Given the description of an element on the screen output the (x, y) to click on. 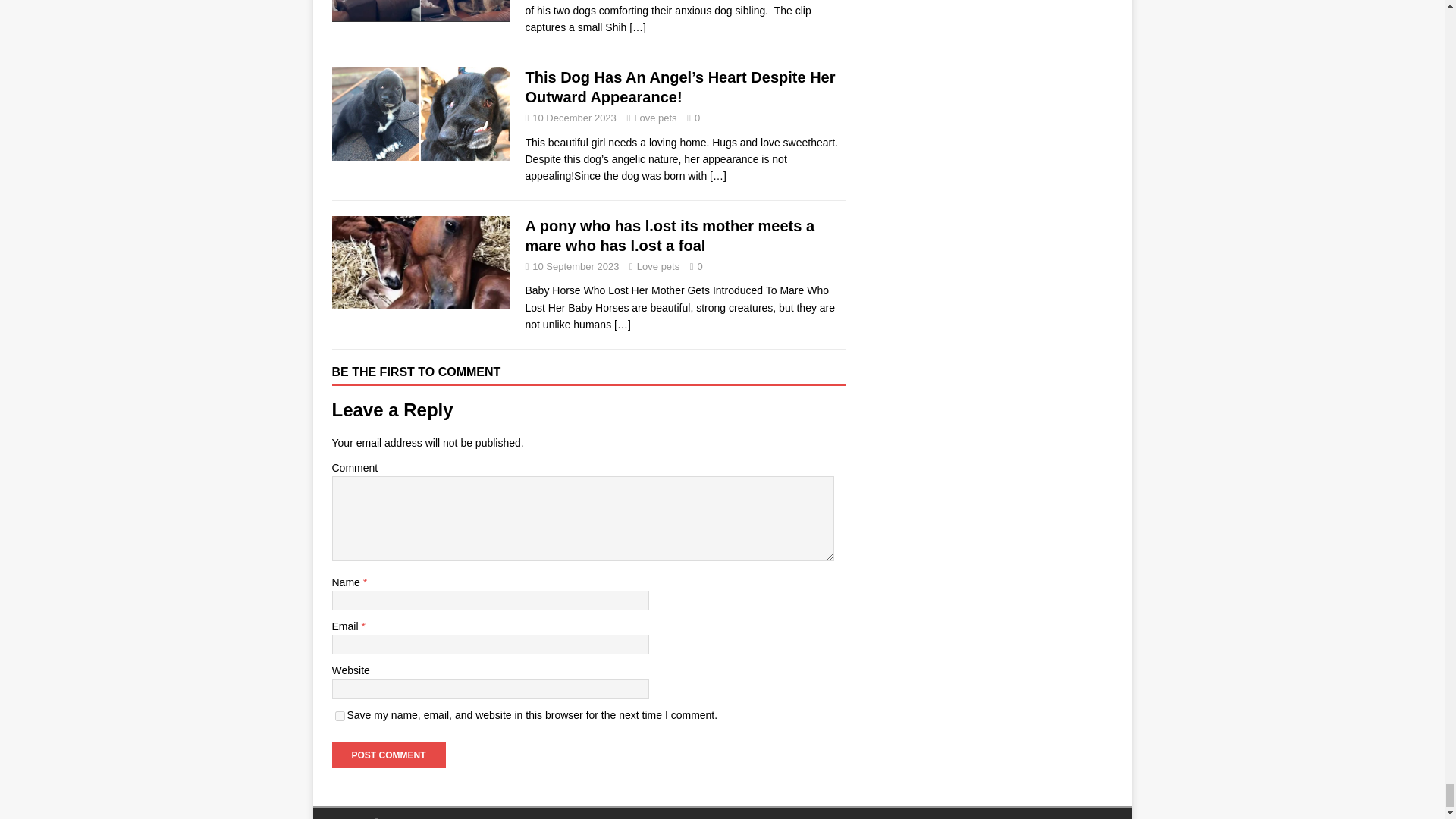
Love pets (655, 117)
Love pets (658, 266)
Post Comment (388, 755)
yes (339, 716)
Post Comment (388, 755)
